Given the description of an element on the screen output the (x, y) to click on. 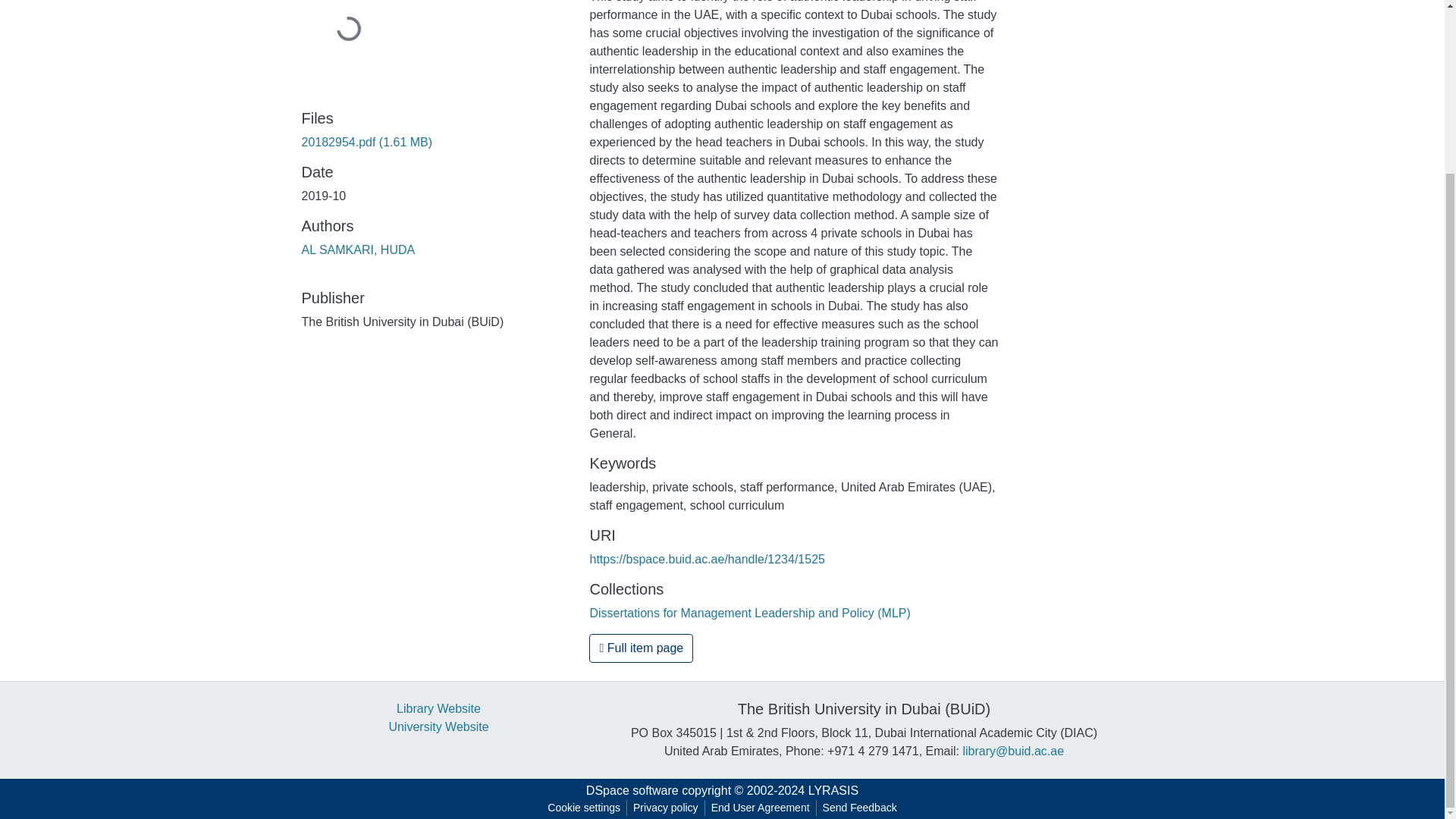
University Website (437, 726)
Library Website (438, 707)
AL SAMKARI, HUDA (357, 249)
Cookie settings (583, 807)
End User Agreement (759, 807)
Full item page (641, 647)
Send Feedback (859, 807)
DSpace software (632, 789)
LYRASIS (833, 789)
Privacy policy (665, 807)
